Given the description of an element on the screen output the (x, y) to click on. 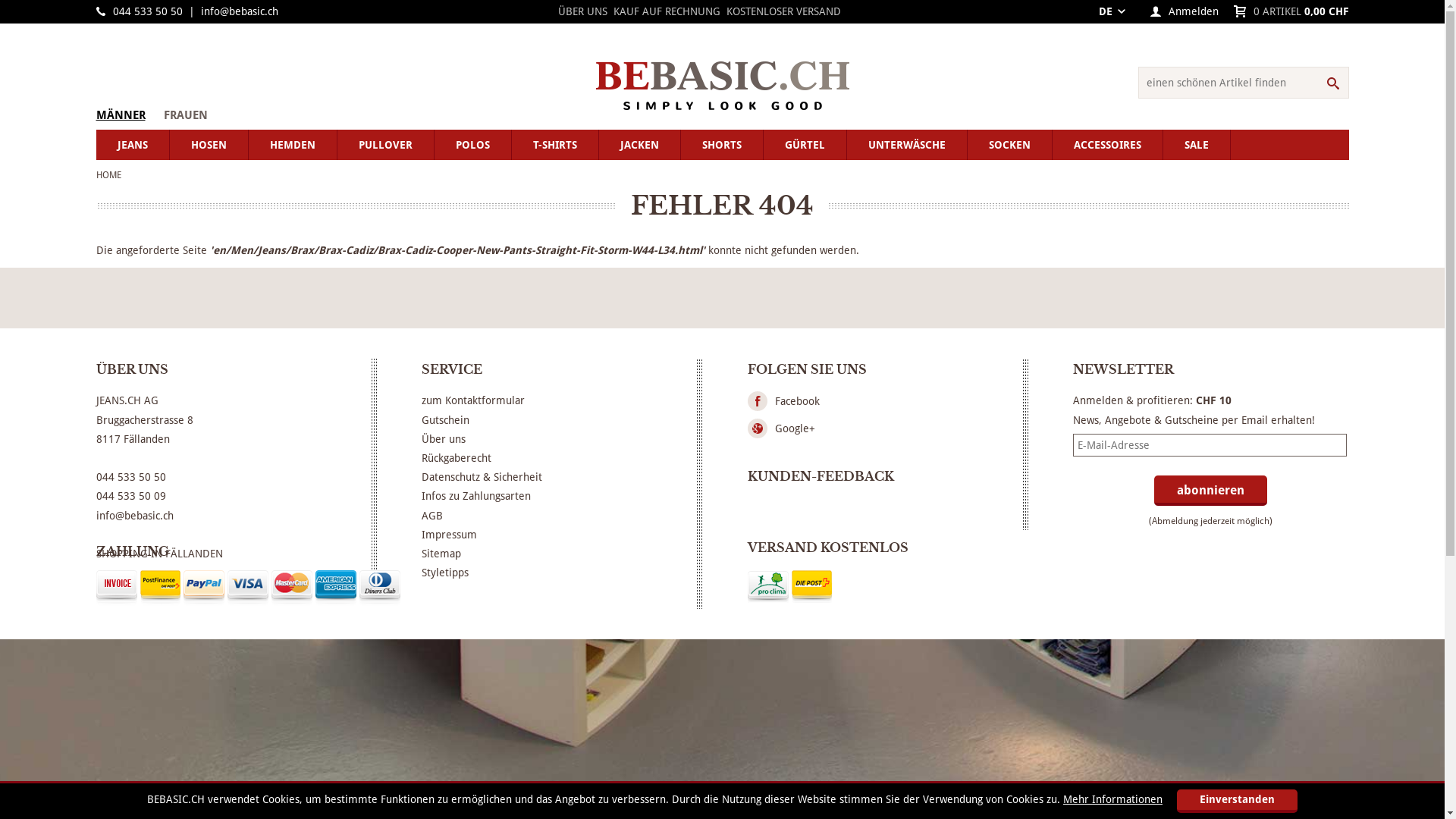
AGB Element type: text (431, 515)
T-SHIRTS Element type: text (554, 144)
Impressum Element type: text (448, 534)
Kundenbewertungen von bebasic.ch einsehen Element type: hover (747, 507)
info@bebasic.ch Element type: text (238, 11)
abonnieren Element type: text (1210, 490)
zum Kontaktformular Element type: text (472, 400)
JEANS Element type: text (132, 144)
Infos zu Zahlungsarten Element type: text (475, 495)
ACCESSOIRES Element type: text (1107, 144)
Sitemap Element type: text (441, 553)
JACKEN Element type: text (639, 144)
Gutschein Element type: text (445, 420)
KAUF AUF RECHNUNG Element type: text (666, 11)
KOSTENLOSER VERSAND Element type: text (783, 11)
HEMDEN Element type: text (292, 144)
Anmelden Element type: text (1192, 11)
SOCKEN Element type: text (1009, 144)
044 533 50 50 Element type: text (147, 11)
PULLOVER Element type: text (384, 144)
Styletipps Element type: text (444, 572)
Datenschutz & Sicherheit Element type: text (481, 476)
SALE Element type: text (1196, 144)
HOME Element type: text (107, 174)
Facebook Element type: text (797, 401)
HOSEN Element type: text (208, 144)
POLOS Element type: text (472, 144)
SHORTS Element type: text (721, 144)
Google+ Element type: text (795, 428)
FRAUEN Element type: text (185, 114)
Einverstanden Element type: text (1236, 800)
Mehr Informationen Element type: text (1112, 799)
